Given the description of an element on the screen output the (x, y) to click on. 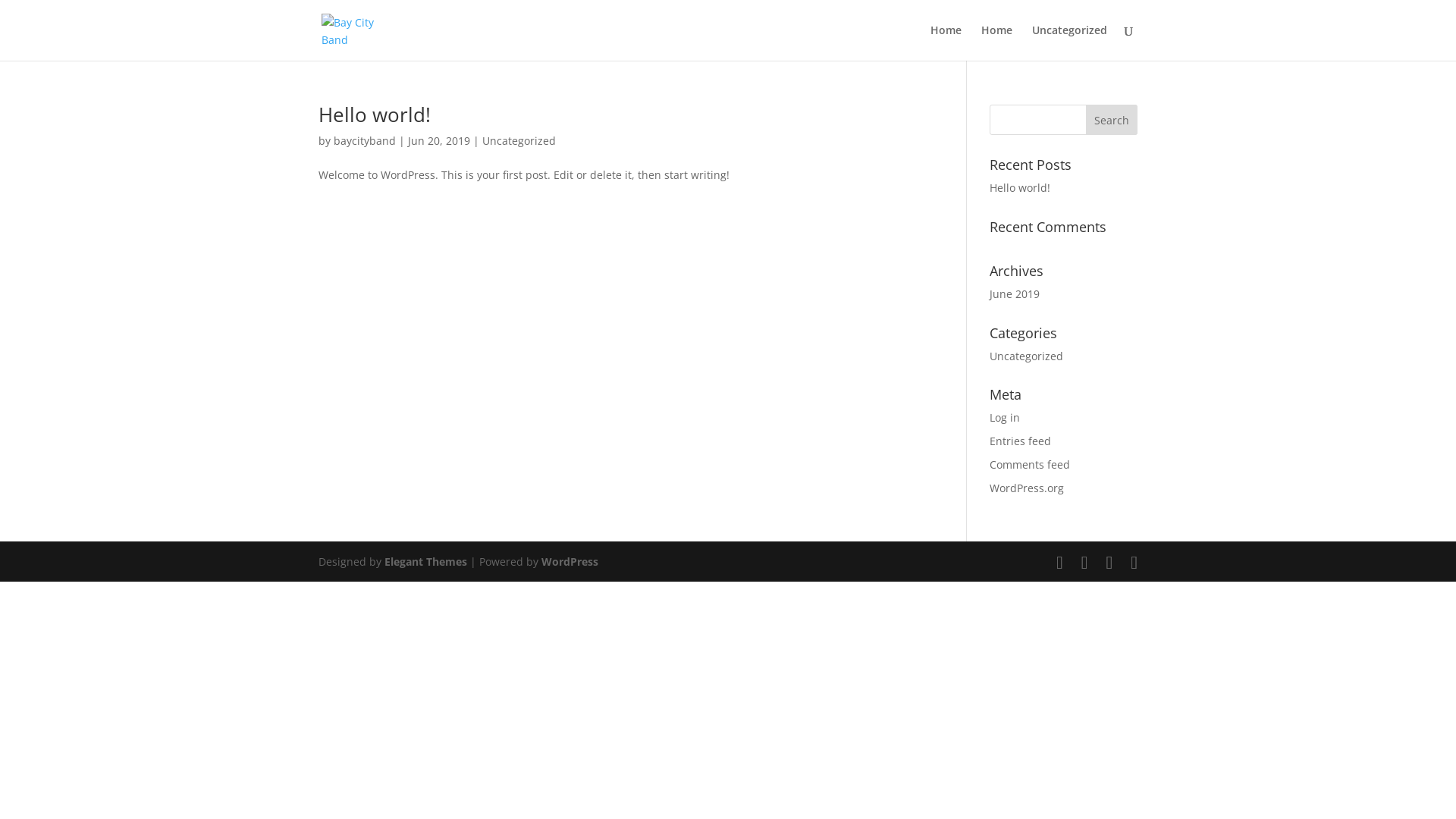
Uncategorized Element type: text (1026, 355)
June 2019 Element type: text (1014, 293)
Entries feed Element type: text (1020, 440)
Log in Element type: text (1004, 417)
Home Element type: text (996, 42)
Uncategorized Element type: text (1069, 42)
Elegant Themes Element type: text (425, 561)
Comments feed Element type: text (1029, 464)
Search Element type: text (1111, 119)
Hello world! Element type: text (1019, 187)
WordPress.org Element type: text (1026, 487)
Home Element type: text (945, 42)
WordPress Element type: text (569, 561)
Uncategorized Element type: text (518, 140)
baycityband Element type: text (364, 140)
Hello world! Element type: text (374, 114)
